Given the description of an element on the screen output the (x, y) to click on. 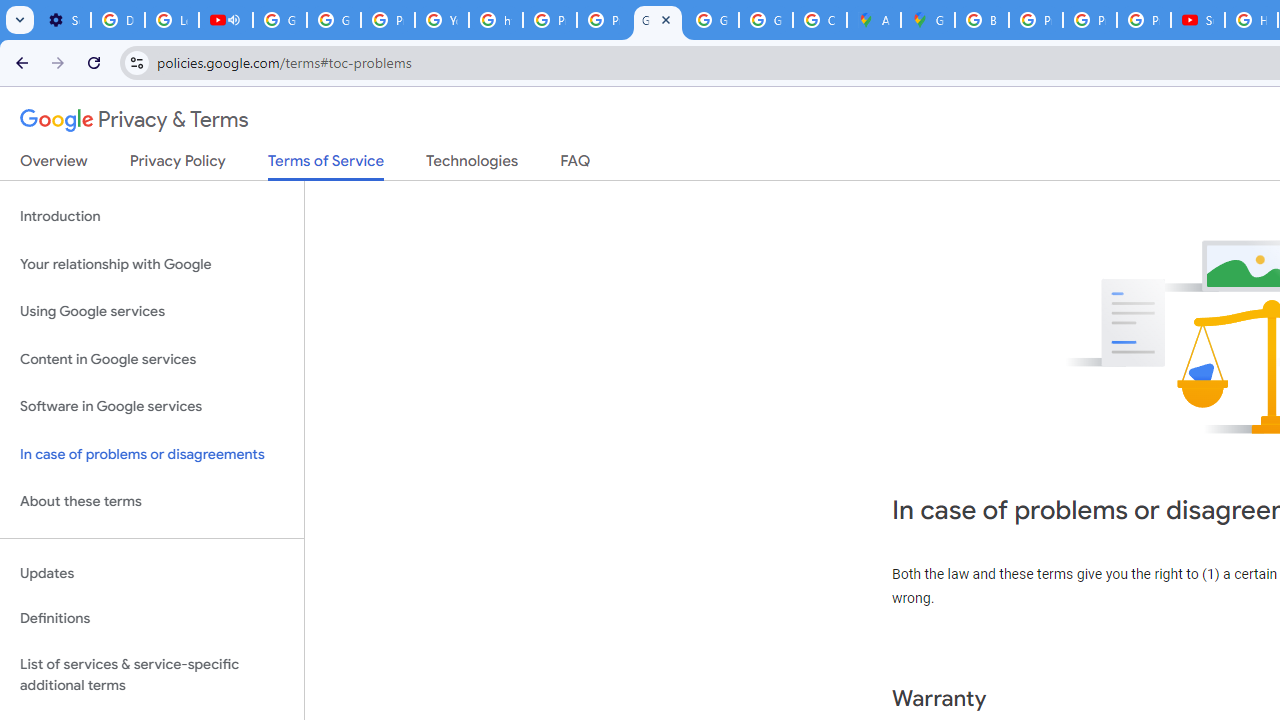
Privacy Help Center - Policies Help (1089, 20)
Using Google services (152, 312)
Software in Google services (152, 407)
Definitions (152, 619)
Google Account Help (280, 20)
Content in Google services (152, 358)
Privacy Help Center - Policies Help (1035, 20)
